Given the description of an element on the screen output the (x, y) to click on. 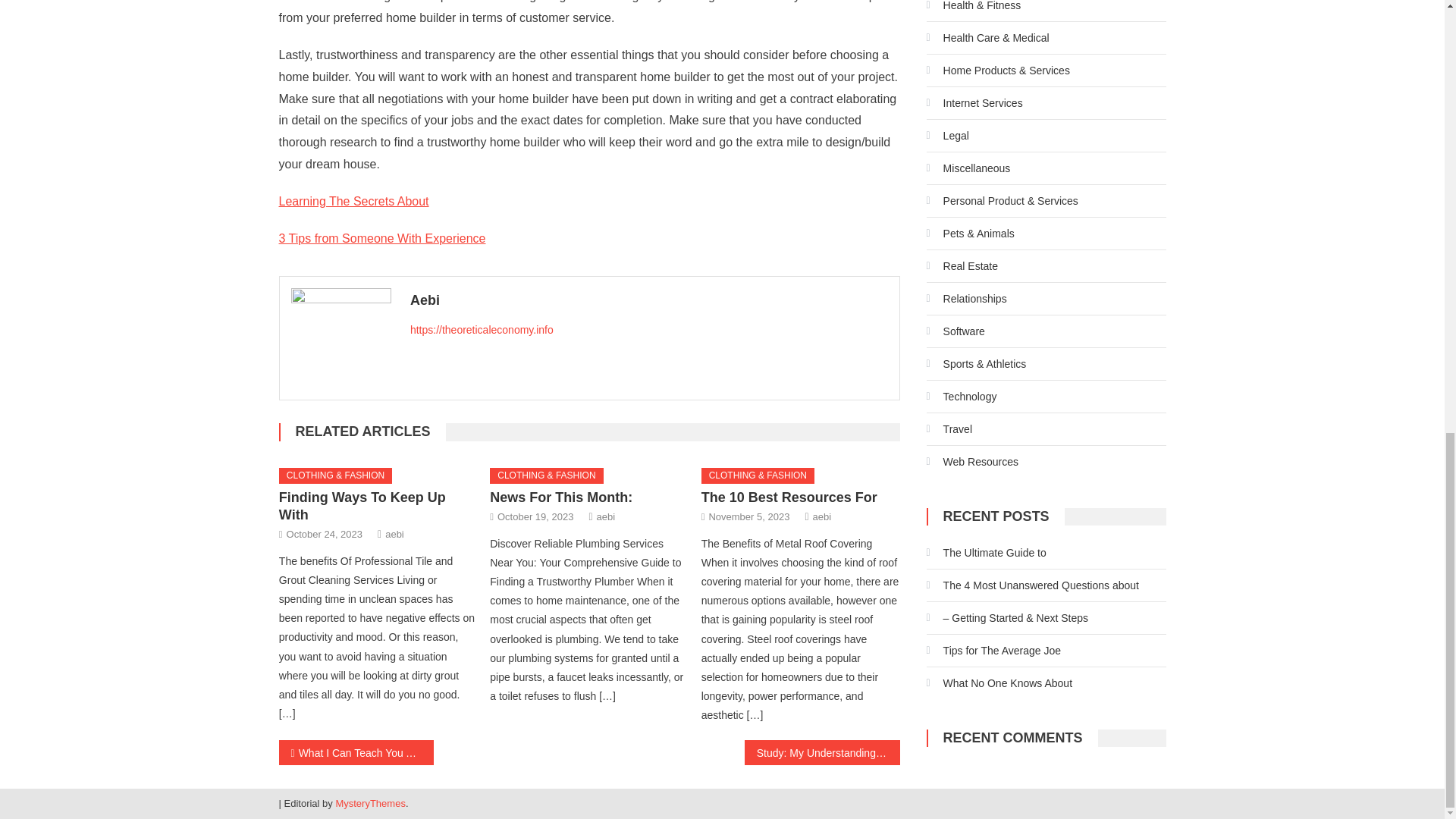
The 10 Best Resources For (789, 497)
October 24, 2023 (324, 533)
October 19, 2023 (535, 516)
aebi (605, 516)
What I Can Teach You About (356, 752)
Finding Ways To Keep Up With (362, 505)
Study: My Understanding of (821, 752)
News For This Month: (560, 497)
Aebi (649, 300)
November 5, 2023 (748, 516)
